Given the description of an element on the screen output the (x, y) to click on. 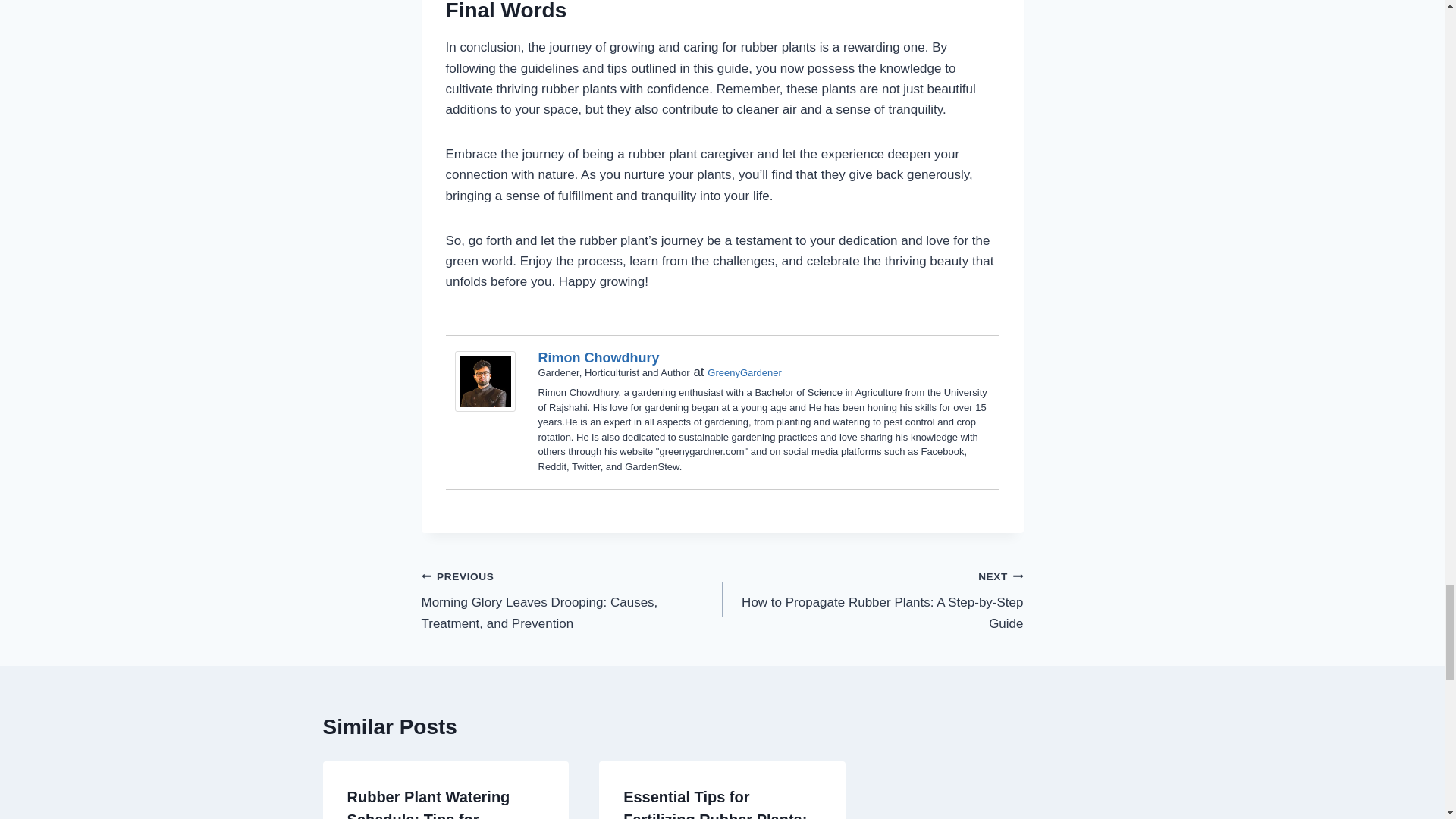
Rubber Plant Watering Schedule: Tips for Properly Watering (429, 803)
Rimon Chowdhury (598, 357)
Rimon Chowdhury (488, 381)
GreenyGardener (872, 599)
